Given the description of an element on the screen output the (x, y) to click on. 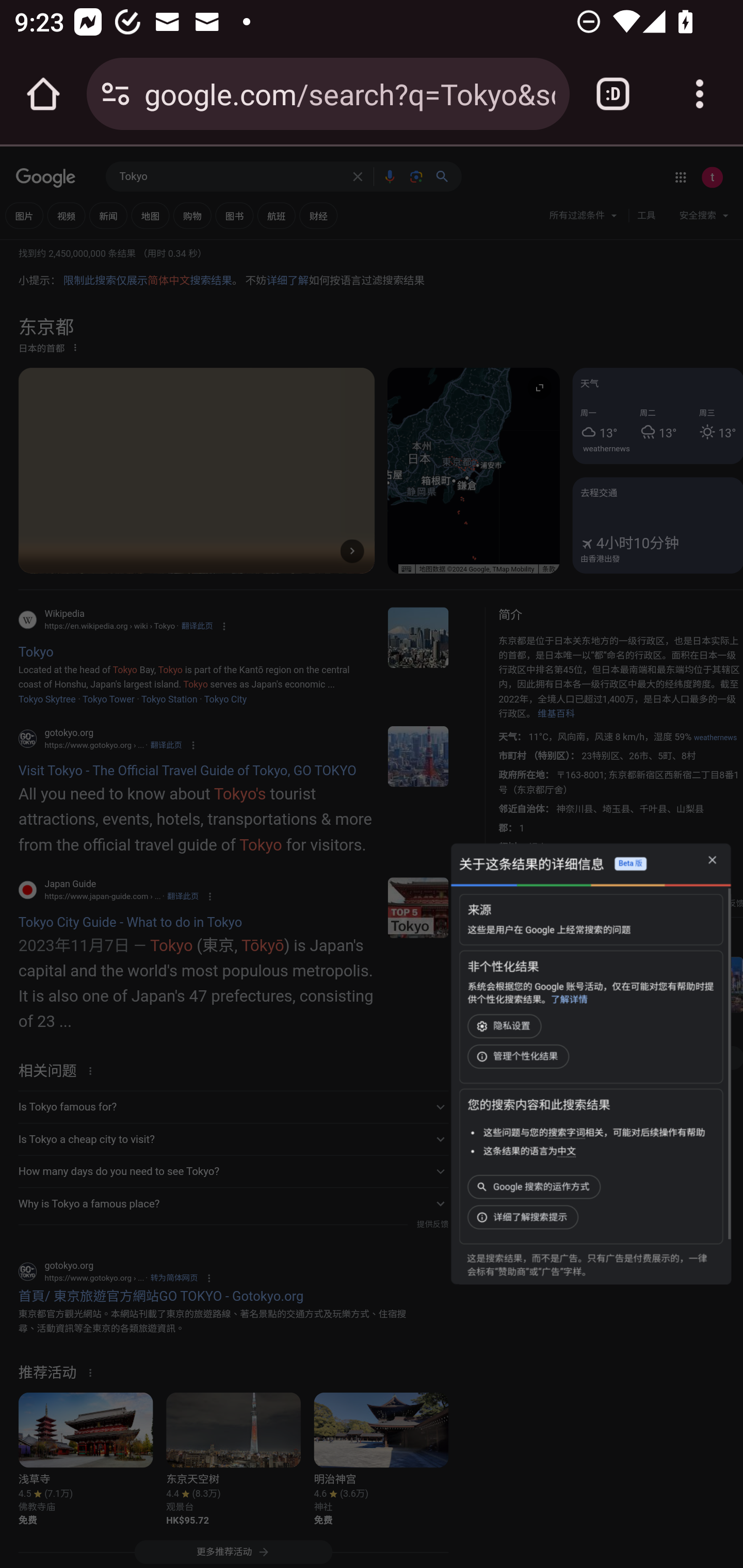
Open the home page (43, 93)
Connection is secure (115, 93)
Switch or close tabs (612, 93)
Customize and control Google Chrome (699, 93)
关闭“关于这条结果” (711, 861)
了解详情 (568, 998)
隐私设置 (506, 1025)
管理个性化结果 (520, 1055)
这些问题与您的搜索字词相关，可能对后续操作有帮助 (593, 1131)
这条结果的语言为中文 (529, 1150)
Google 搜索的运作方式 (535, 1185)
详细了解搜索提示 (524, 1216)
